Given the description of an element on the screen output the (x, y) to click on. 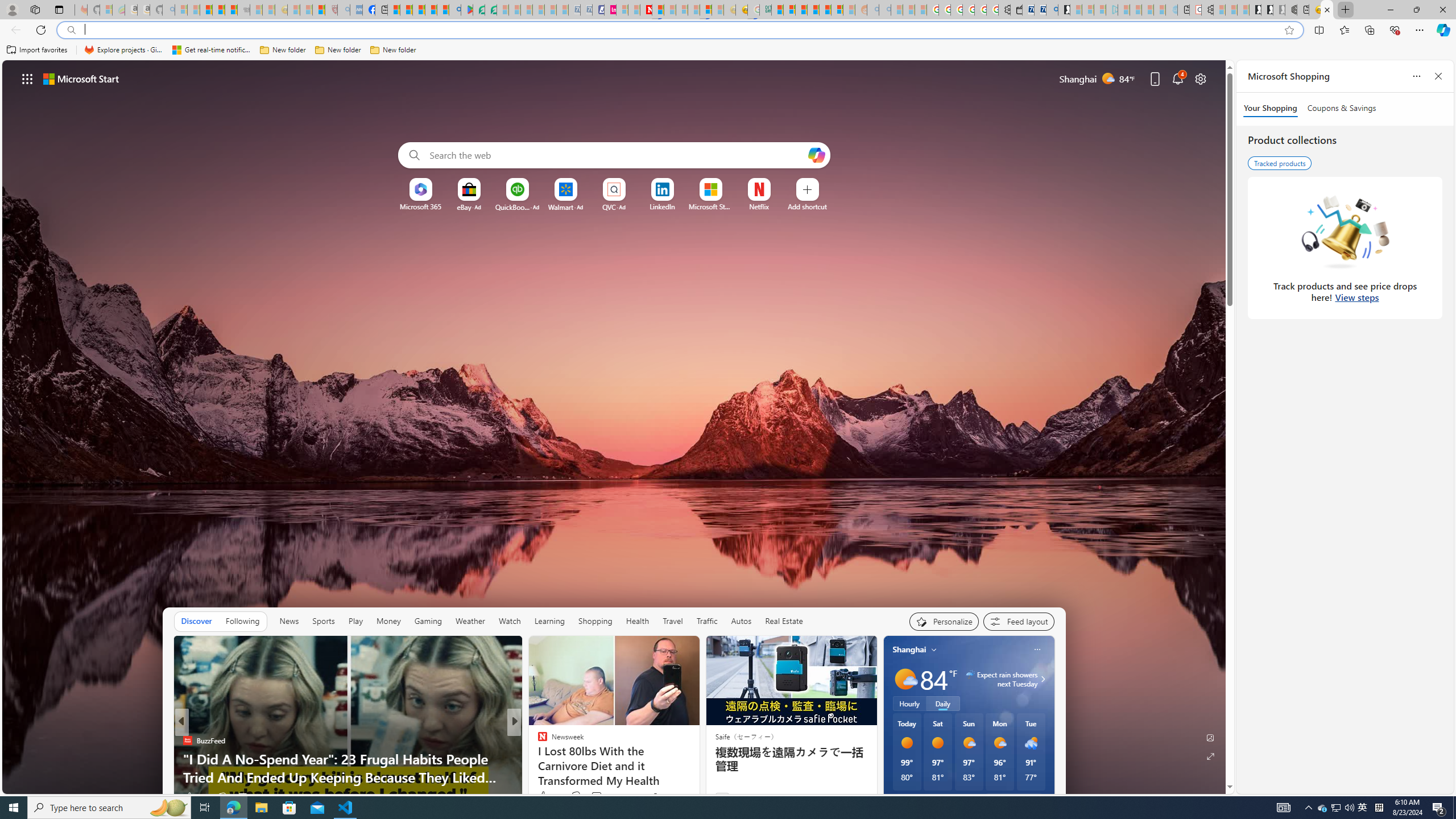
Pets - MSN (431, 9)
View comments 18 Comment (238, 797)
View comments 73 Comment (595, 795)
